Given the description of an element on the screen output the (x, y) to click on. 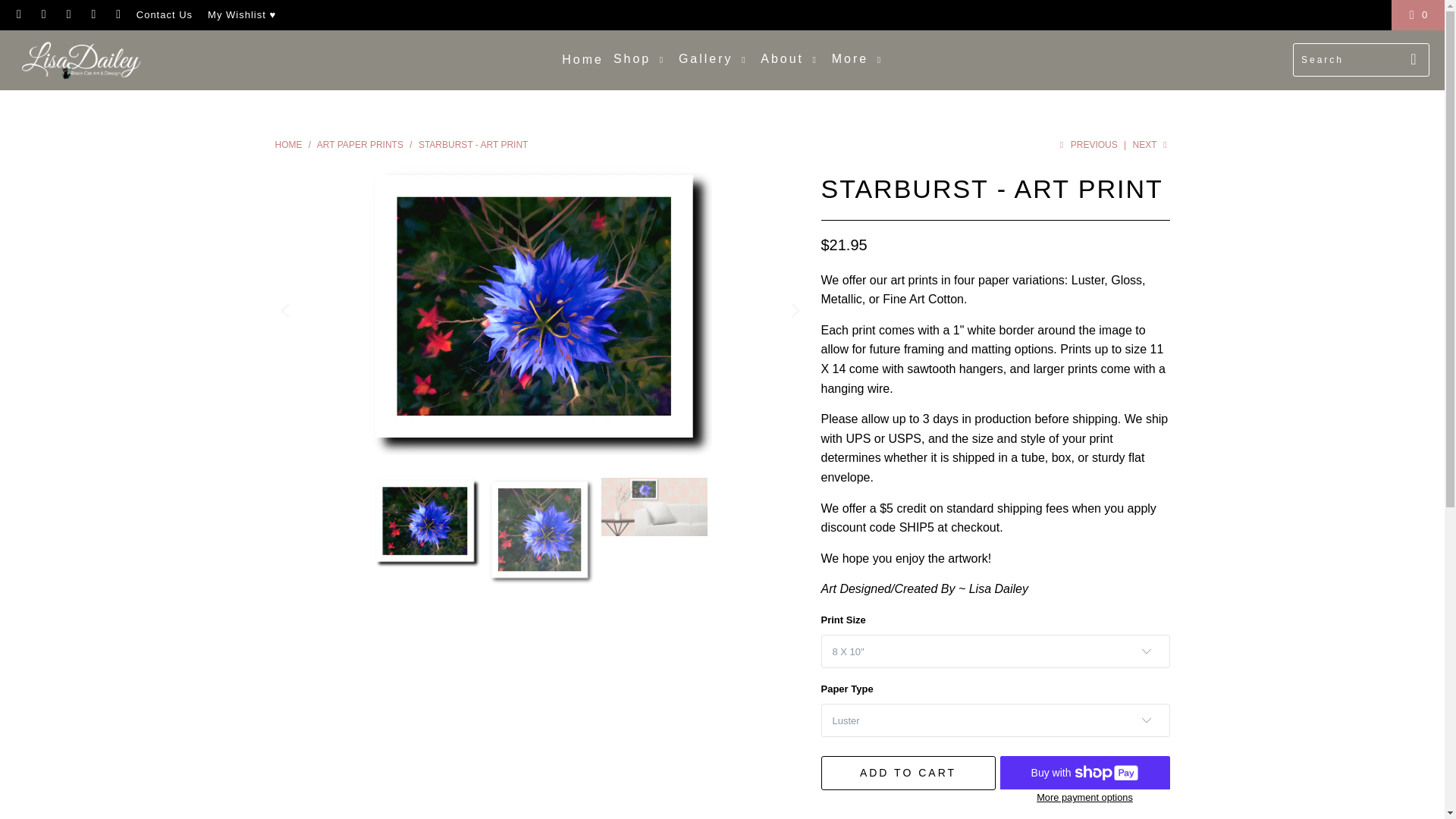
Next (1151, 144)
Previous (1086, 144)
Art Paper Prints (360, 144)
